Given the description of an element on the screen output the (x, y) to click on. 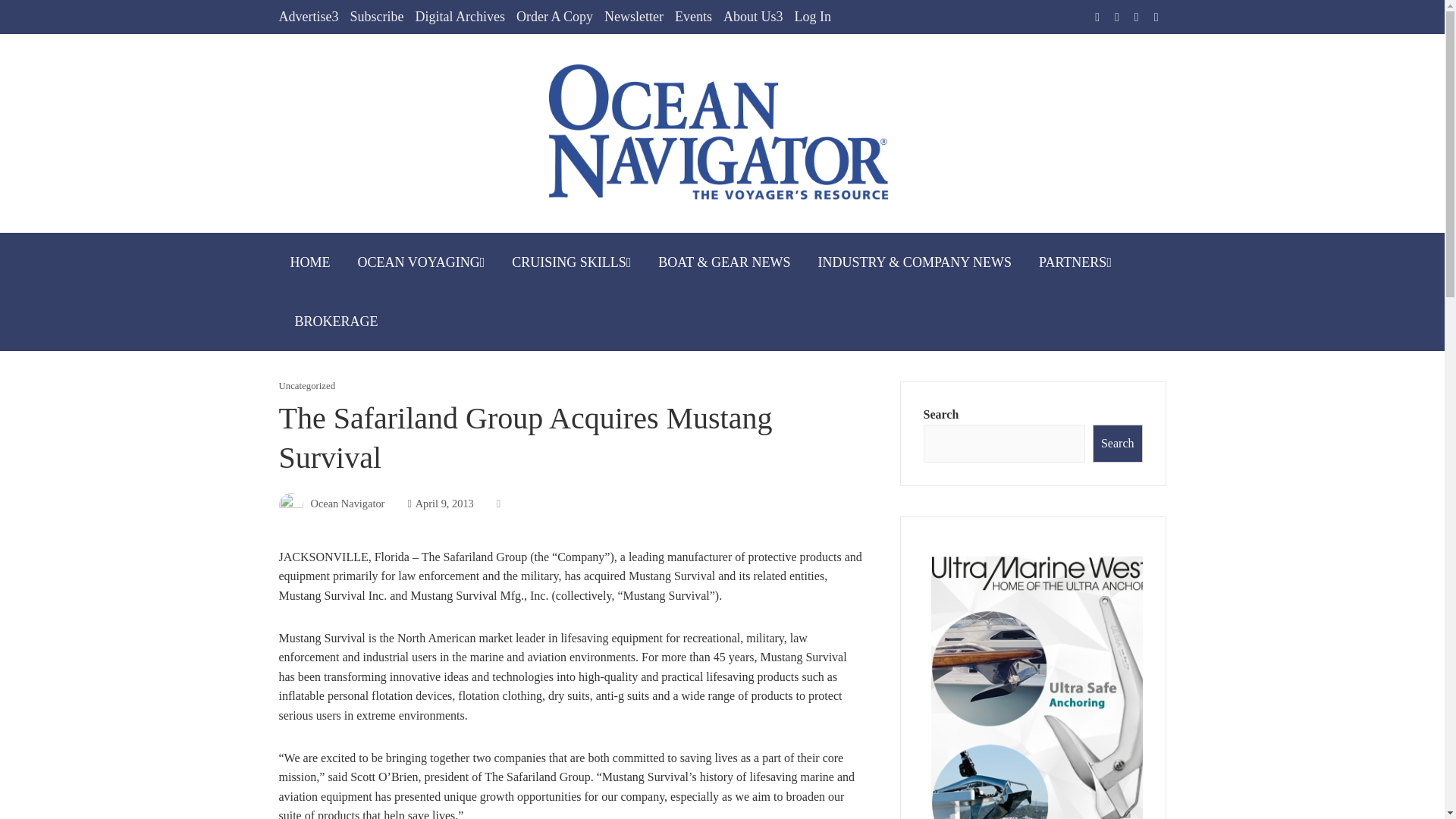
HOME (310, 261)
Order A Copy (554, 17)
Newsletter (633, 17)
Digital Archives (458, 17)
CRUISING SKILLS (571, 261)
Subscribe (376, 17)
Advertise (309, 17)
PARTNERS (1074, 261)
Events (693, 17)
Log In (812, 17)
OCEAN VOYAGING (421, 261)
About Us (753, 17)
